Given the description of an element on the screen output the (x, y) to click on. 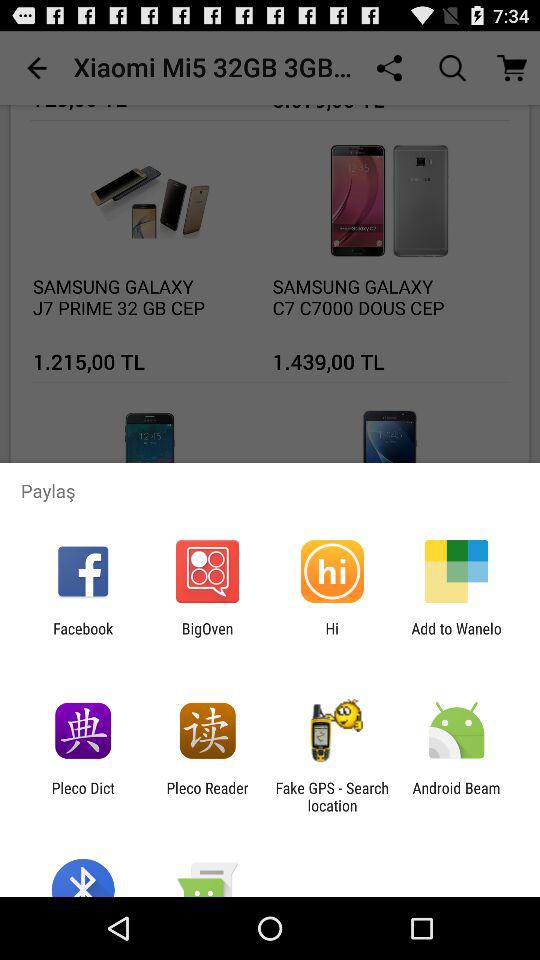
swipe until the pleco reader icon (207, 796)
